Given the description of an element on the screen output the (x, y) to click on. 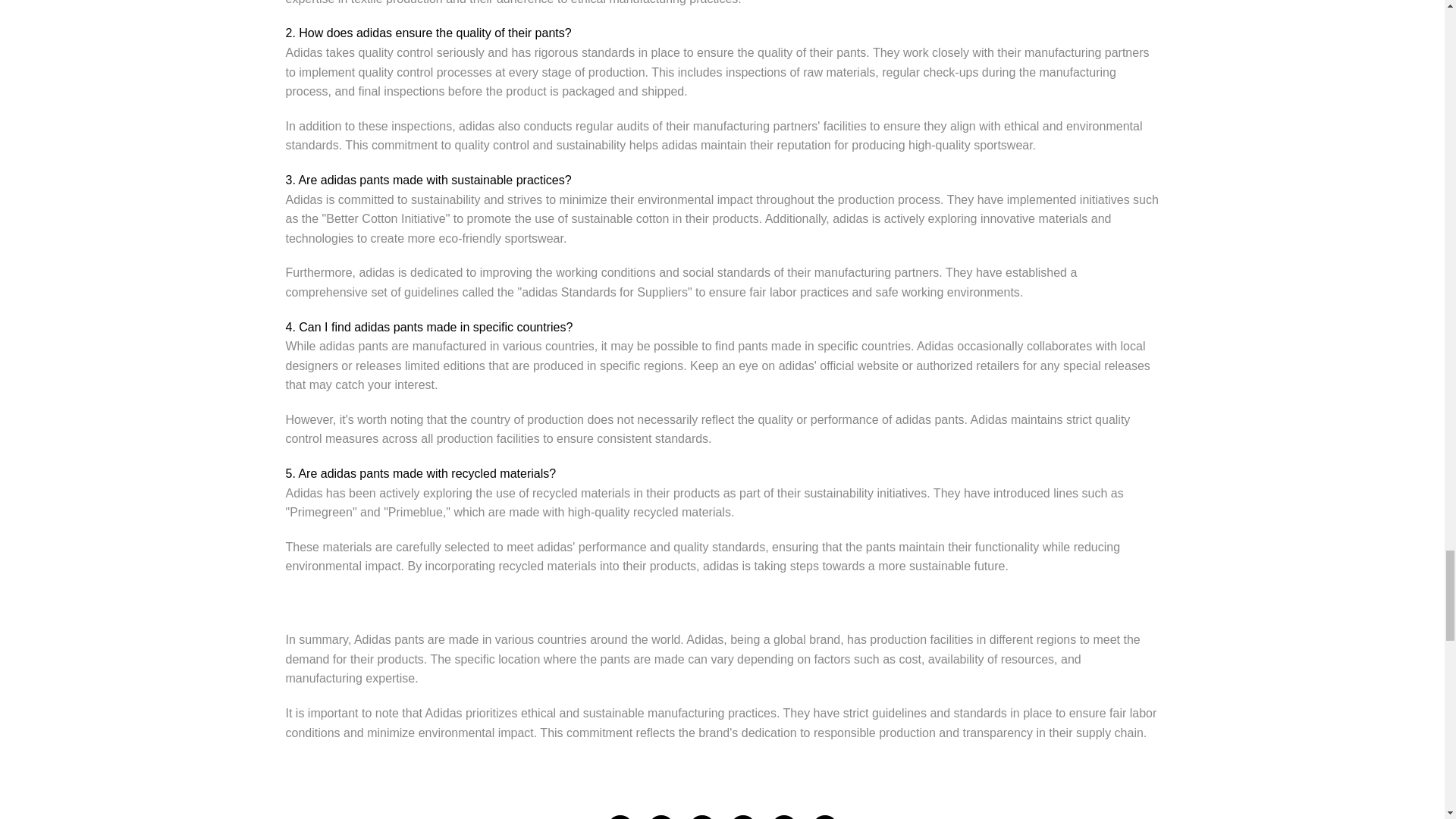
Share on Twitter (659, 816)
Share on Email (783, 816)
Share on WhatsApp (823, 816)
Share on Facebook (619, 816)
Share on Telegram (742, 816)
Share on Pinterest (701, 816)
